Given the description of an element on the screen output the (x, y) to click on. 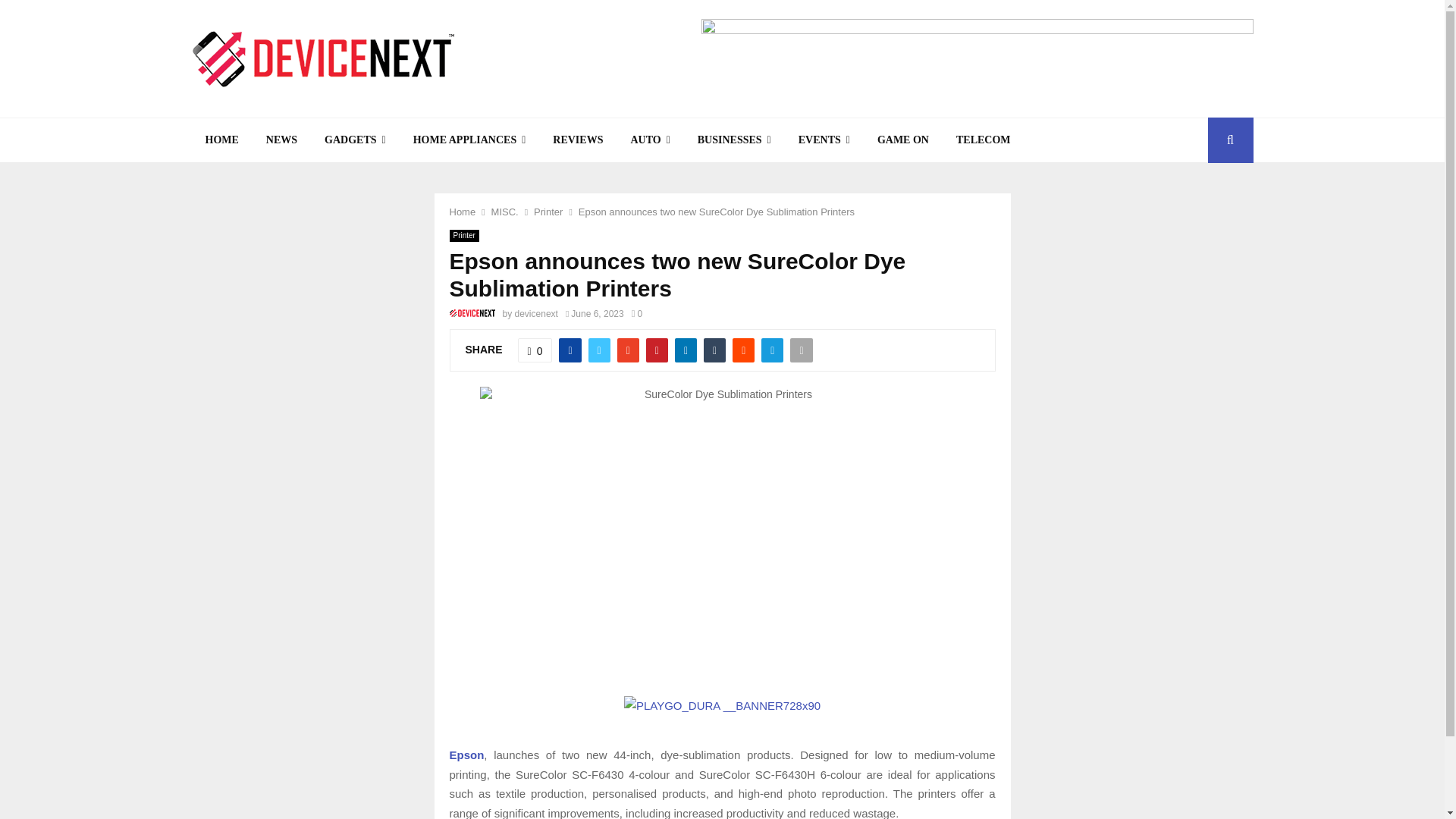
NEWS (281, 139)
REVIEWS (576, 139)
HOME APPLIANCES (469, 139)
Like (535, 350)
AUTO (648, 139)
HOME (220, 139)
BUSINESSES (734, 139)
EVENTS (823, 139)
GADGETS (354, 139)
